Given the description of an element on the screen output the (x, y) to click on. 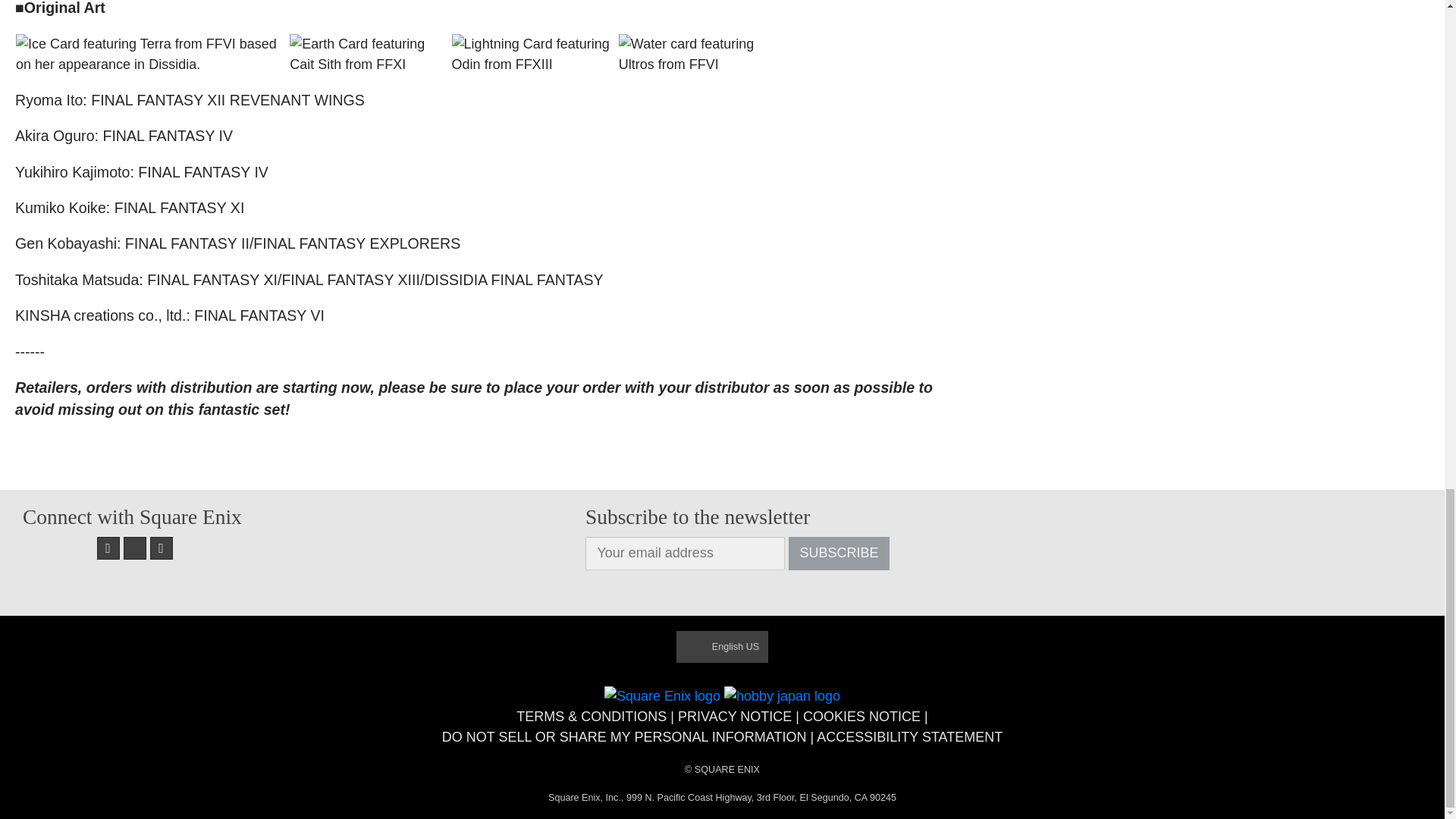
English US (721, 646)
English US (721, 646)
COOKIES NOTICE (861, 716)
ACCESSIBILITY STATEMENT (909, 736)
DO NOT SELL OR SHARE MY PERSONAL INFORMATION (624, 736)
PRIVACY NOTICE (735, 716)
SUBSCRIBE (839, 553)
X (134, 547)
